Given the description of an element on the screen output the (x, y) to click on. 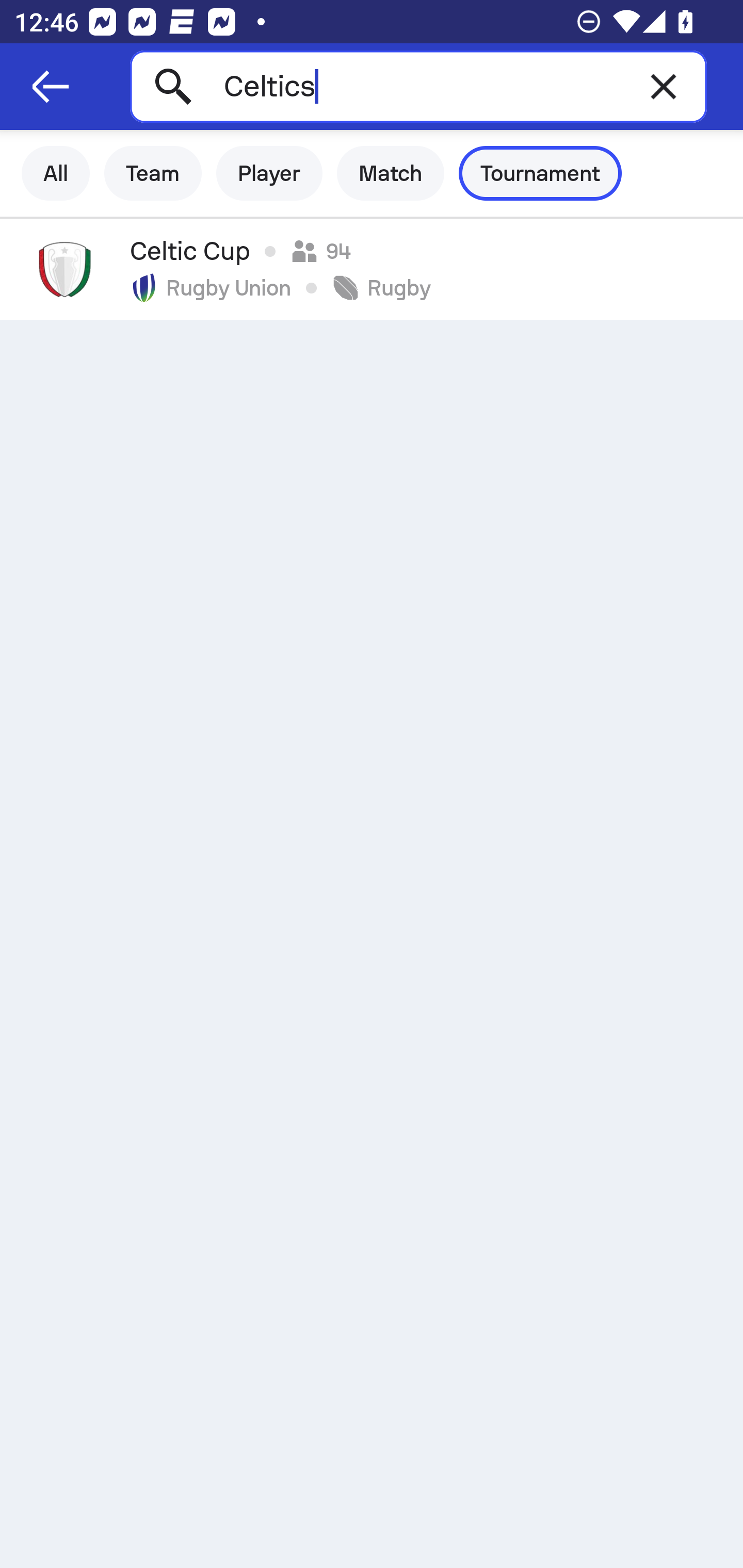
Navigate up (50, 86)
Celtics (418, 86)
Clear text (663, 86)
All (55, 172)
Team (152, 172)
Player (268, 172)
Match (390, 172)
Tournament (540, 172)
Celtic Cup 94 Rugby Union Rugby (371, 268)
